Given the description of an element on the screen output the (x, y) to click on. 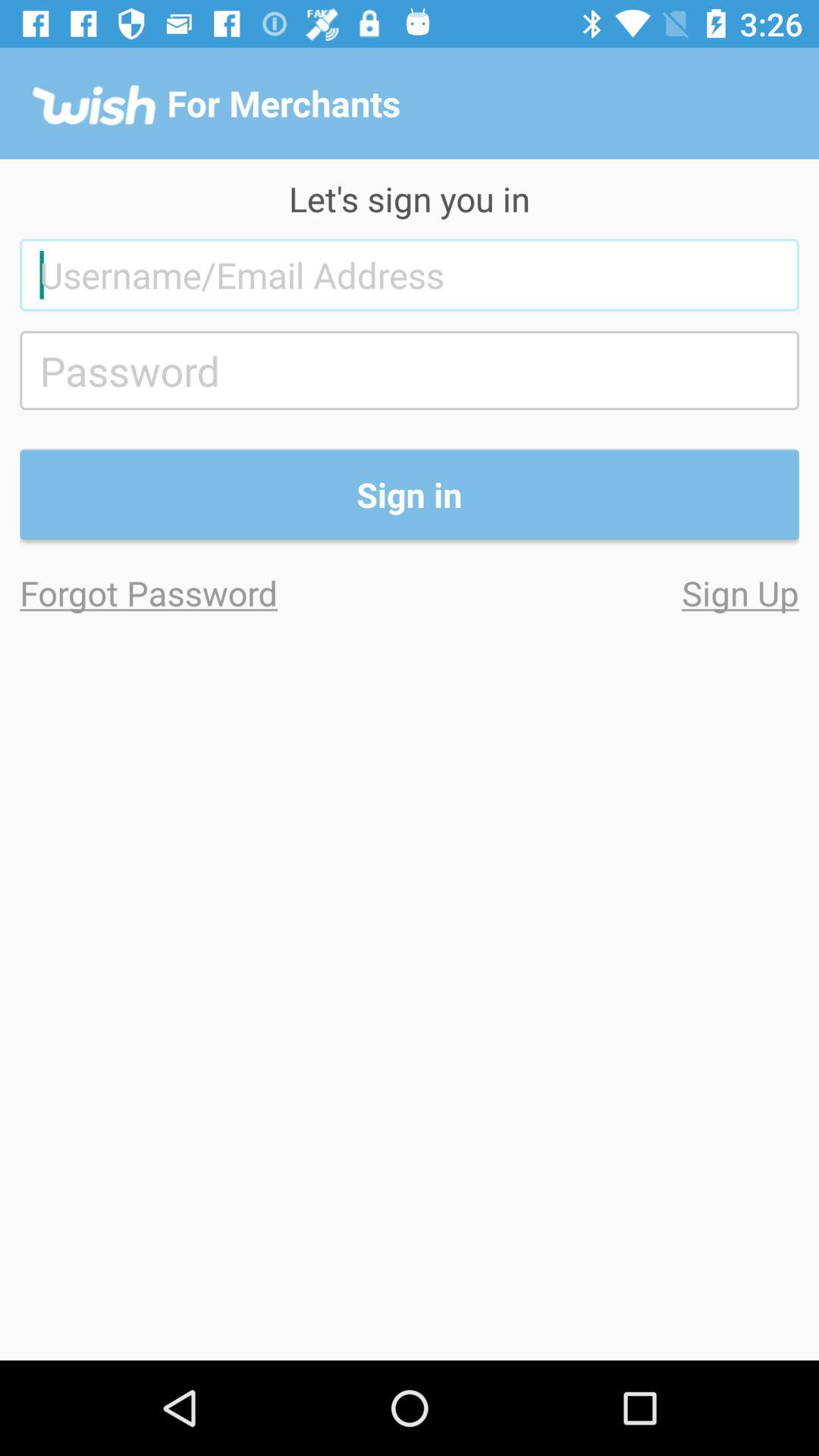
swipe until the forgot password icon (214, 592)
